Given the description of an element on the screen output the (x, y) to click on. 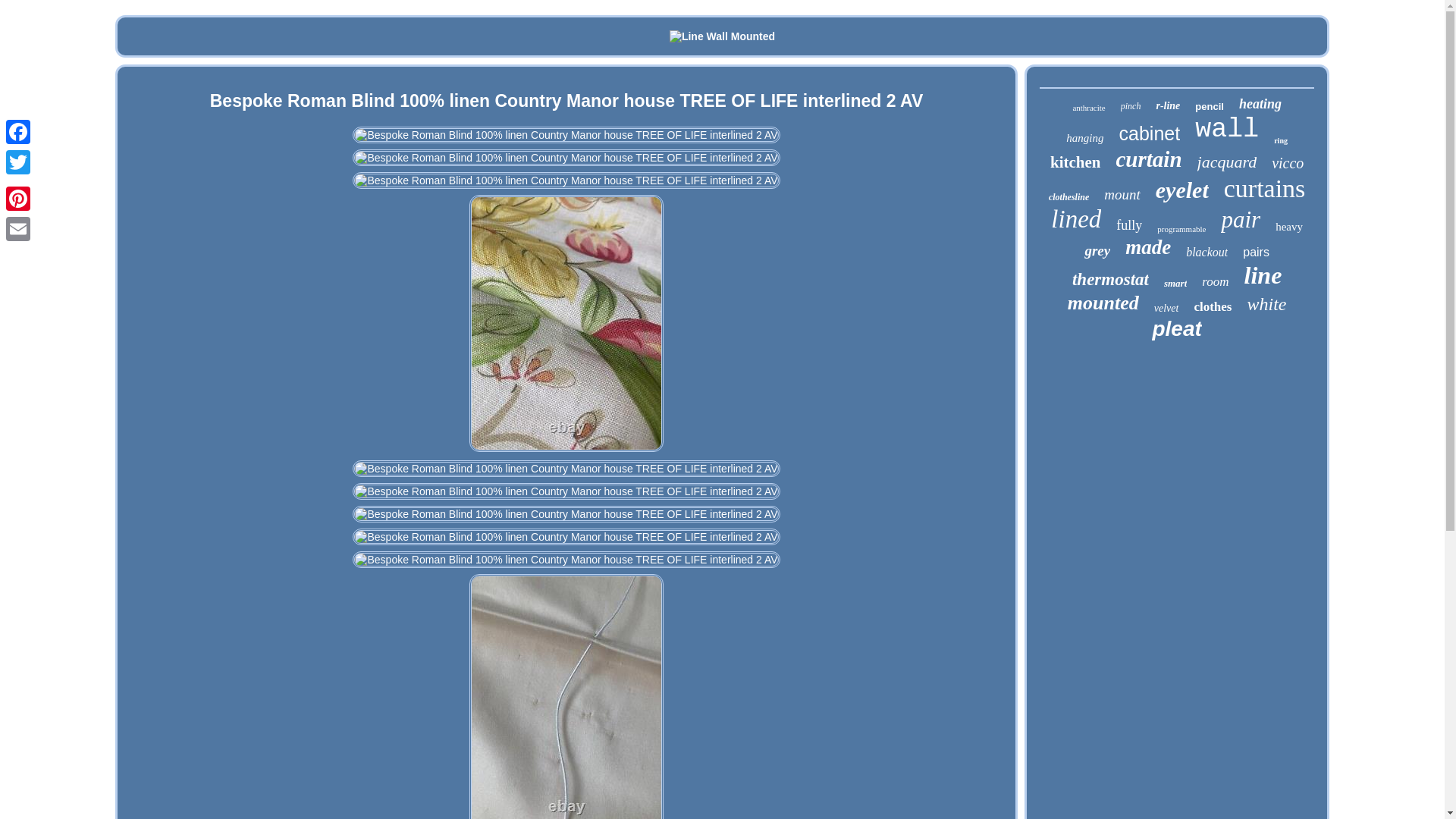
Email (17, 228)
heavy (1289, 226)
anthracite (1088, 107)
ring (1280, 140)
fully (1128, 225)
mount (1121, 194)
smart (1174, 283)
pairs (1256, 252)
Facebook (17, 132)
Pinterest (17, 198)
